Given the description of an element on the screen output the (x, y) to click on. 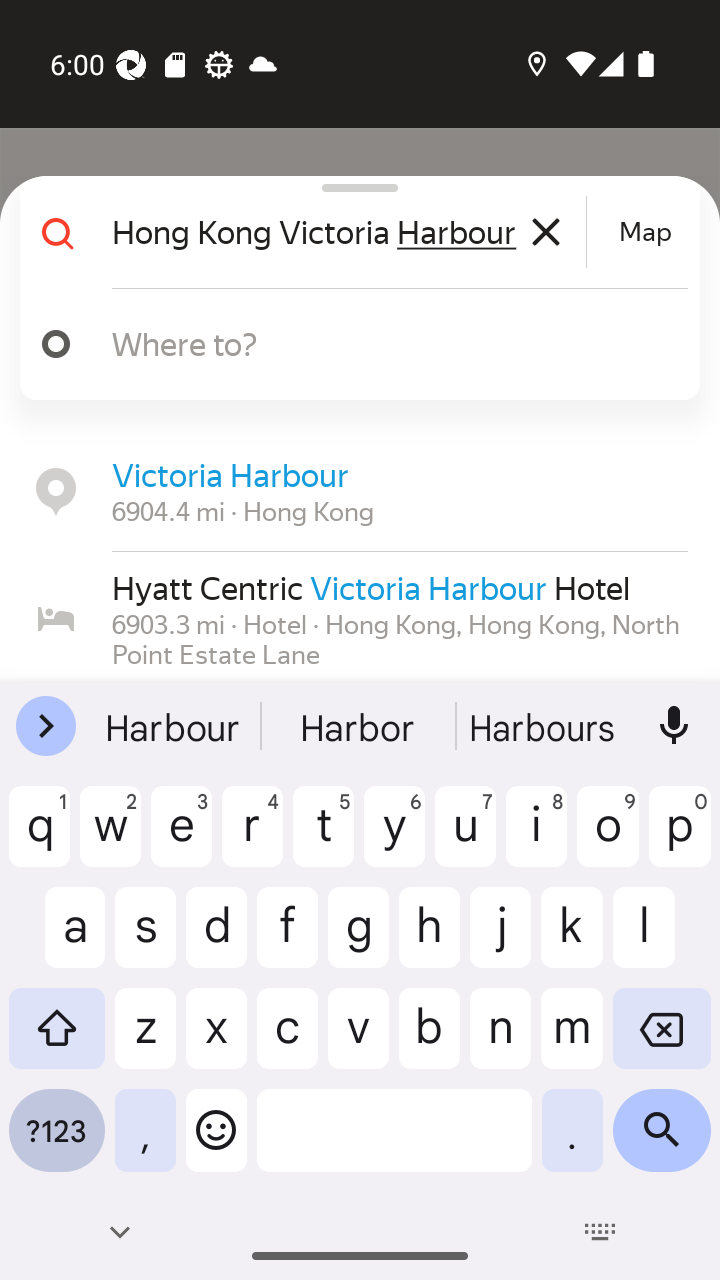
Hong Kong Victoria Harbour Clear text box Map Map (352, 232)
Map (645, 232)
Clear text box (546, 231)
Hong Kong Victoria Harbour (346, 232)
Where to? (352, 343)
Where to? (390, 343)
